Given the description of an element on the screen output the (x, y) to click on. 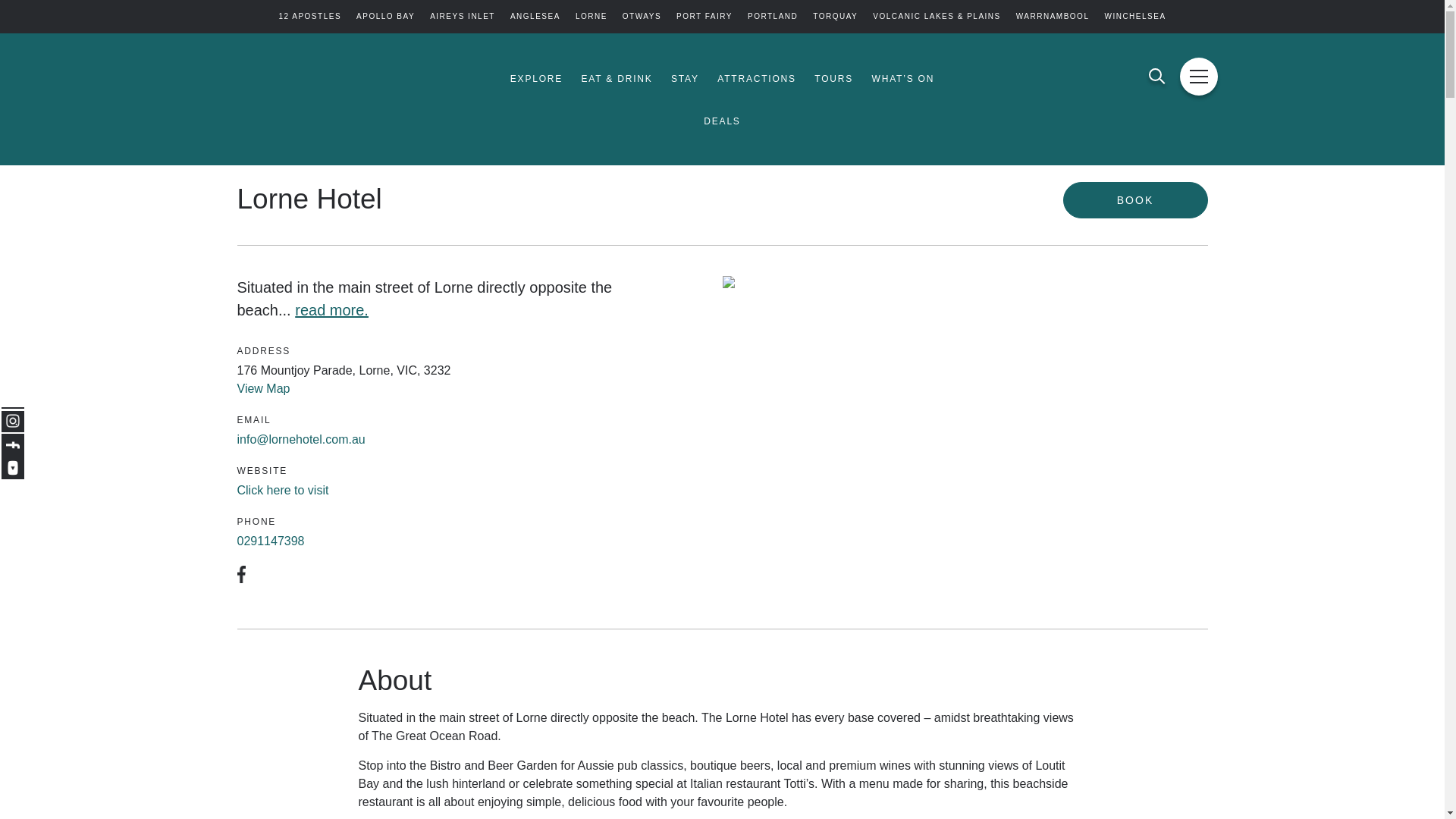
AIREYS INLET (462, 16)
OTWAYS (642, 16)
LORNE (591, 16)
WINCHELSEA (1134, 16)
PORT FAIRY (704, 16)
WARRNAMBOOL (1052, 16)
12 APOSTLES (309, 16)
EXPLORE (536, 78)
TORQUAY (834, 16)
ANGLESEA (535, 16)
